Given the description of an element on the screen output the (x, y) to click on. 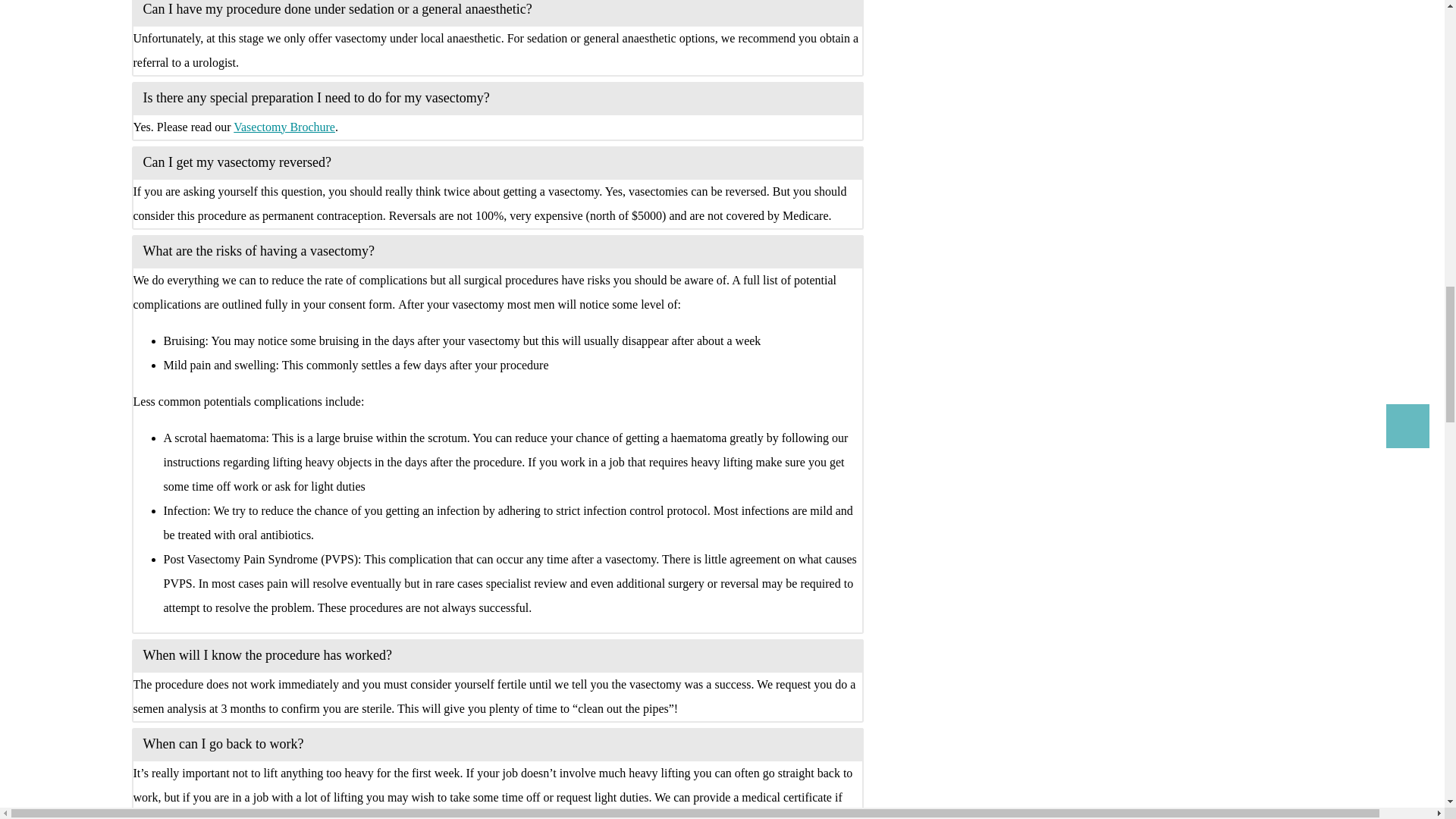
Vasectomy Brochure (283, 125)
Can I get my vasectomy reversed? (497, 161)
What are the risks of having a vasectomy? (497, 250)
When will I know the procedure has worked? (497, 654)
When can I go back to work? (497, 744)
